Given the description of an element on the screen output the (x, y) to click on. 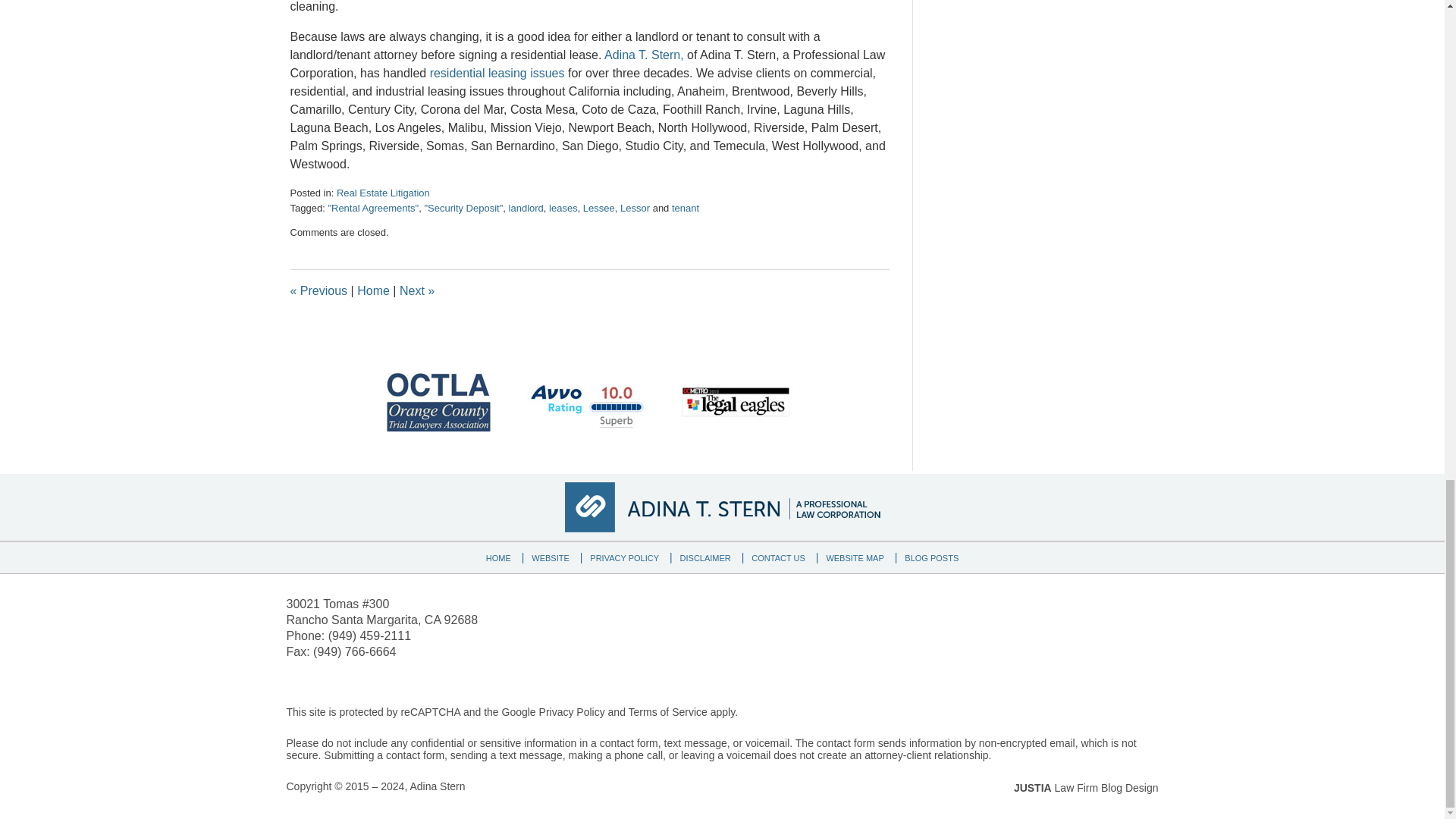
Adina T. Stern, (644, 54)
Lessor (634, 207)
Lessee (598, 207)
Real Estate Litigation (382, 193)
View all posts tagged with "Security Deposit" (462, 207)
landlord (525, 207)
"Rental Agreements" (373, 207)
View all posts tagged with tenant (684, 207)
"Security Deposit" (462, 207)
View all posts in Real Estate Litigation (382, 193)
View all posts tagged with leases (563, 207)
tenant (684, 207)
View all posts tagged with "Rental Agreements" (373, 207)
View all posts tagged with landlord (525, 207)
Home (373, 290)
